Given the description of an element on the screen output the (x, y) to click on. 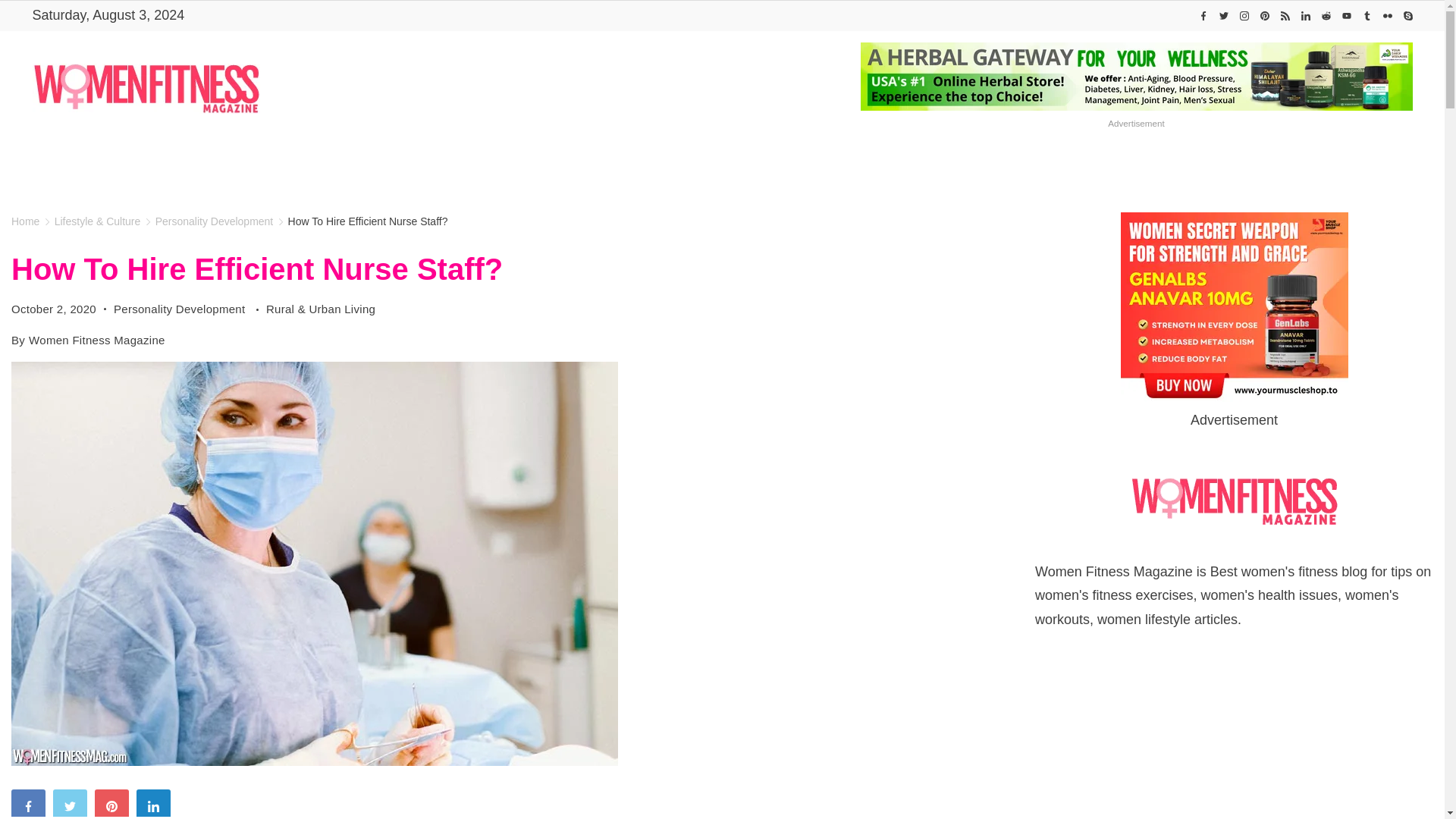
Women Fitness Magazine  (415, 165)
Home (415, 165)
